Given the description of an element on the screen output the (x, y) to click on. 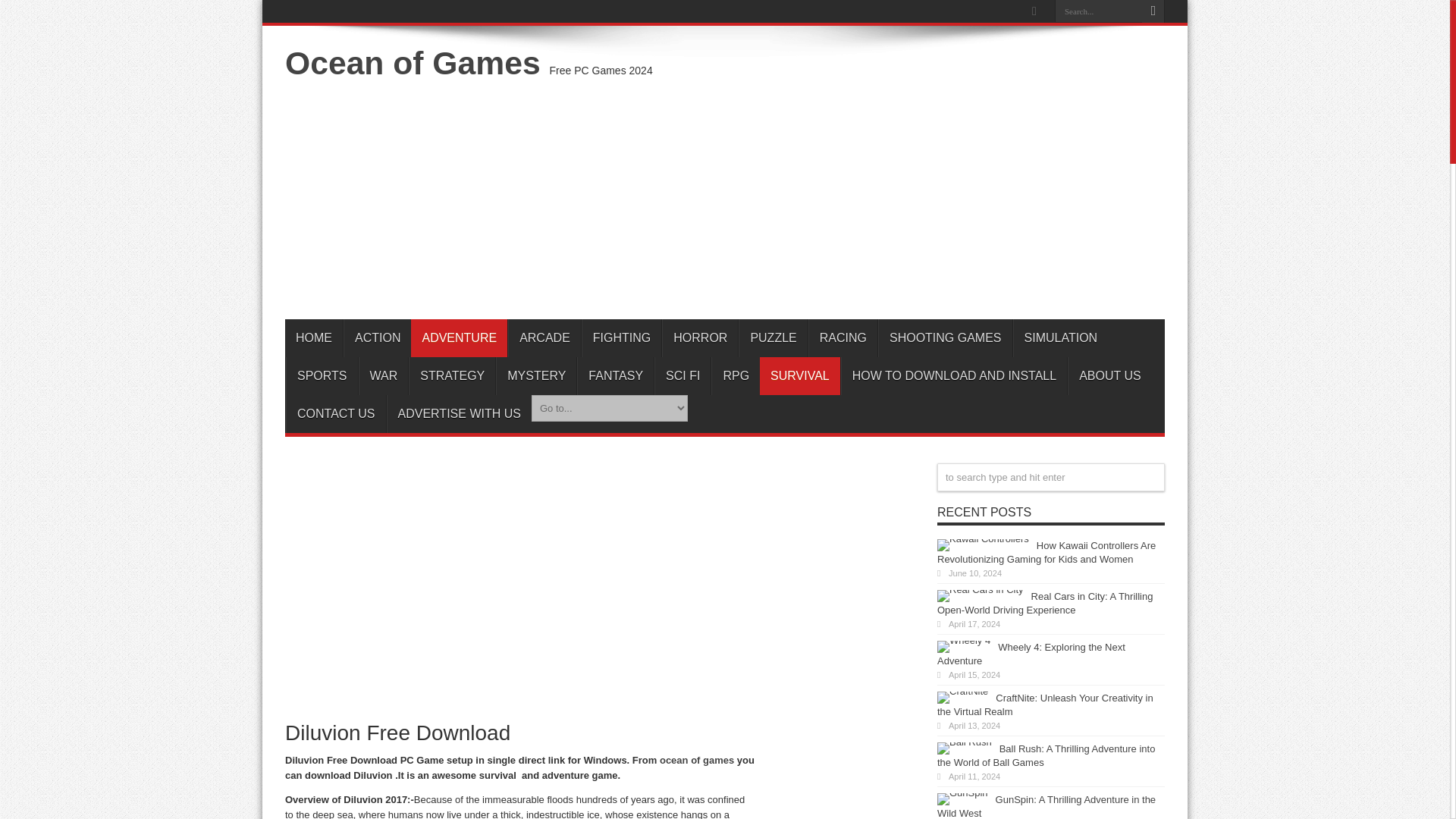
CONTACT US (335, 413)
STRATEGY (452, 375)
SHOOTING GAMES (944, 338)
HORROR (700, 338)
MYSTERY (536, 375)
HOME (313, 338)
HOW TO DOWNLOAD AND INSTALL (954, 375)
RPG (735, 375)
ACTION (376, 338)
FANTASY (614, 375)
PUZZLE (772, 338)
Search... (1097, 11)
SPORTS (321, 375)
ADVERTISE WITH US (459, 413)
SURVIVAL (800, 375)
